Given the description of an element on the screen output the (x, y) to click on. 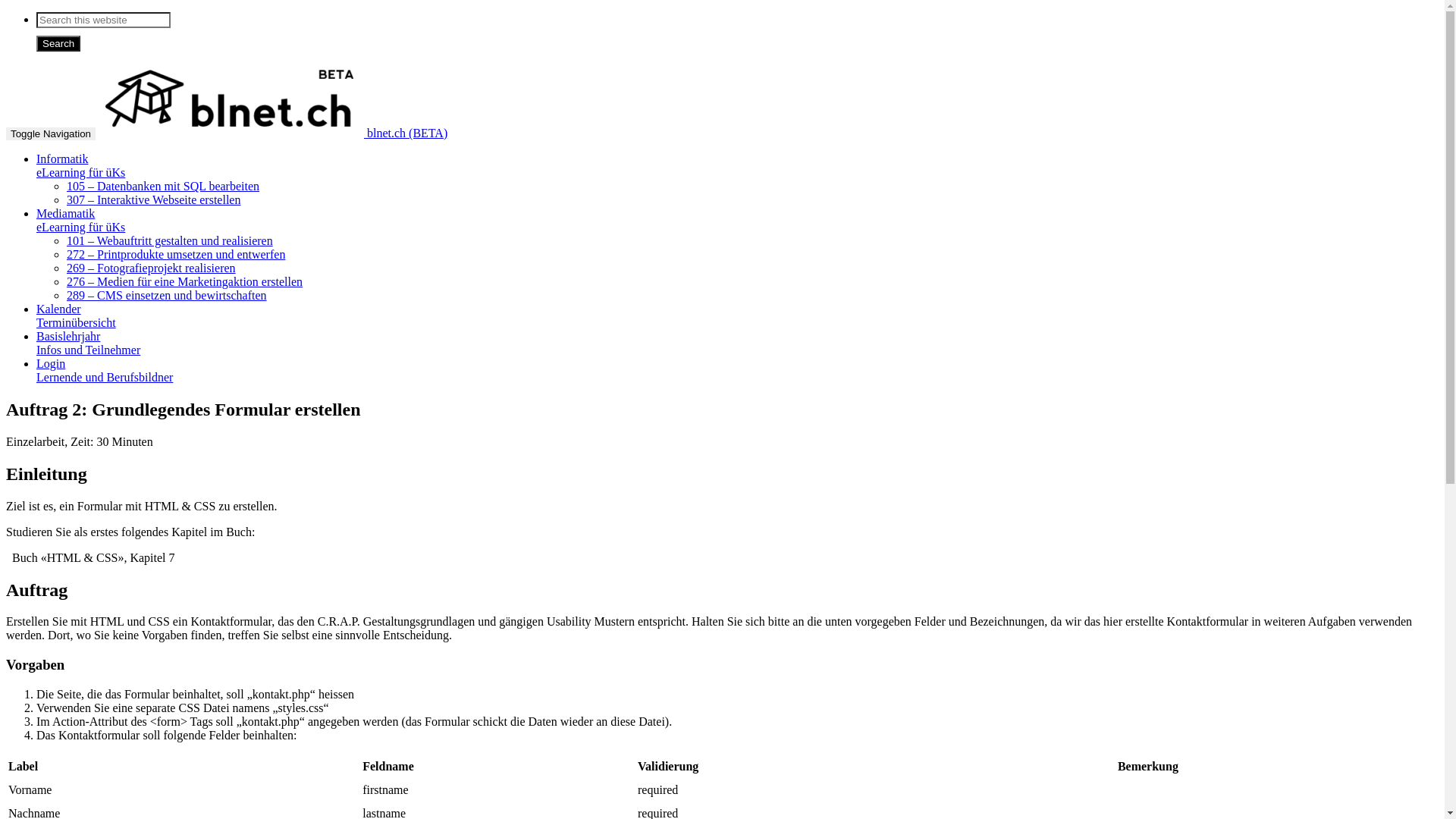
Search Element type: text (58, 43)
Toggle Navigation Element type: text (50, 133)
Skip to content Element type: text (6, 12)
Basislehrjahr
Infos und Teilnehmer Element type: text (88, 342)
blnet.ch (BETA) Element type: text (272, 132)
Login
Lernende und Berufsbildner Element type: text (104, 370)
